Given the description of an element on the screen output the (x, y) to click on. 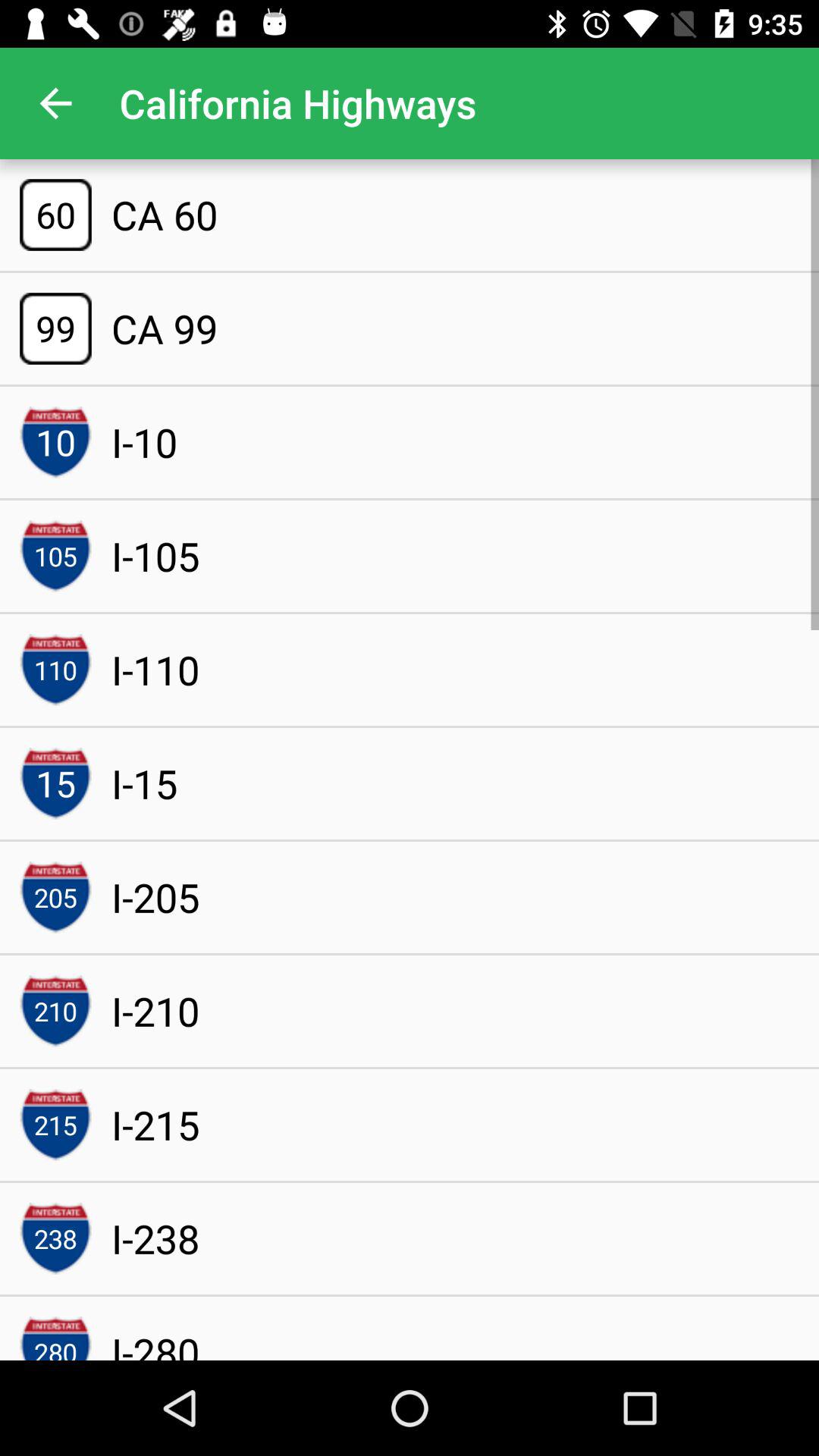
swipe to the ca 99 icon (164, 328)
